Given the description of an element on the screen output the (x, y) to click on. 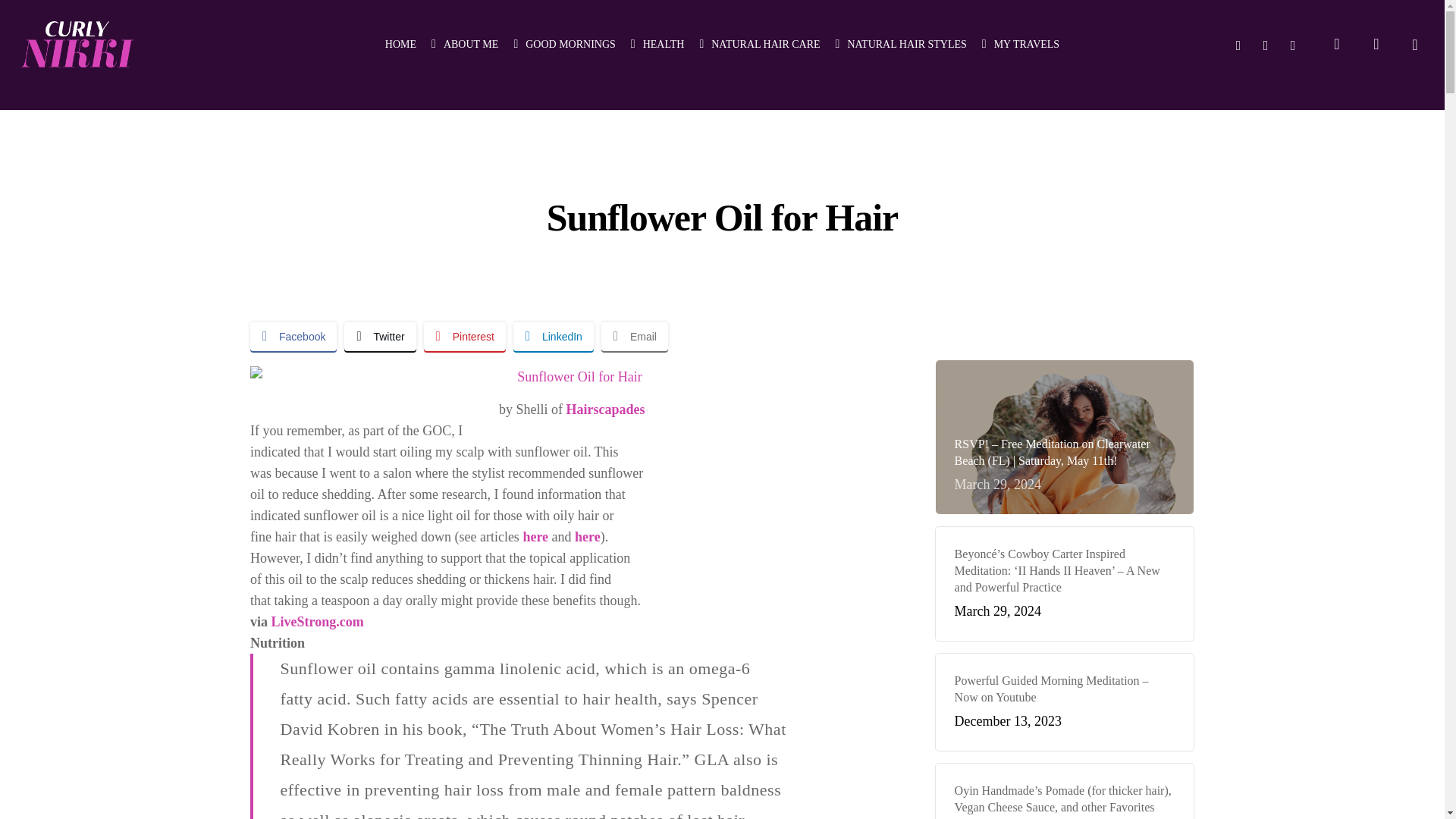
ABOUT ME (463, 44)
MaybeKnow: Sunflower Oil Benefits for Hair (587, 536)
NATURAL HAIR CARE (758, 44)
HEALTH (657, 44)
sunflower (573, 376)
GOOD MORNINGS (563, 44)
HOME (400, 44)
Live Strong: Benefits of Sunflower Oil for Hair (317, 621)
NATURAL HAIR STYLES (900, 44)
Curly Nikki: Ceramides for Strong Healthy Hair (535, 536)
